Given the description of an element on the screen output the (x, y) to click on. 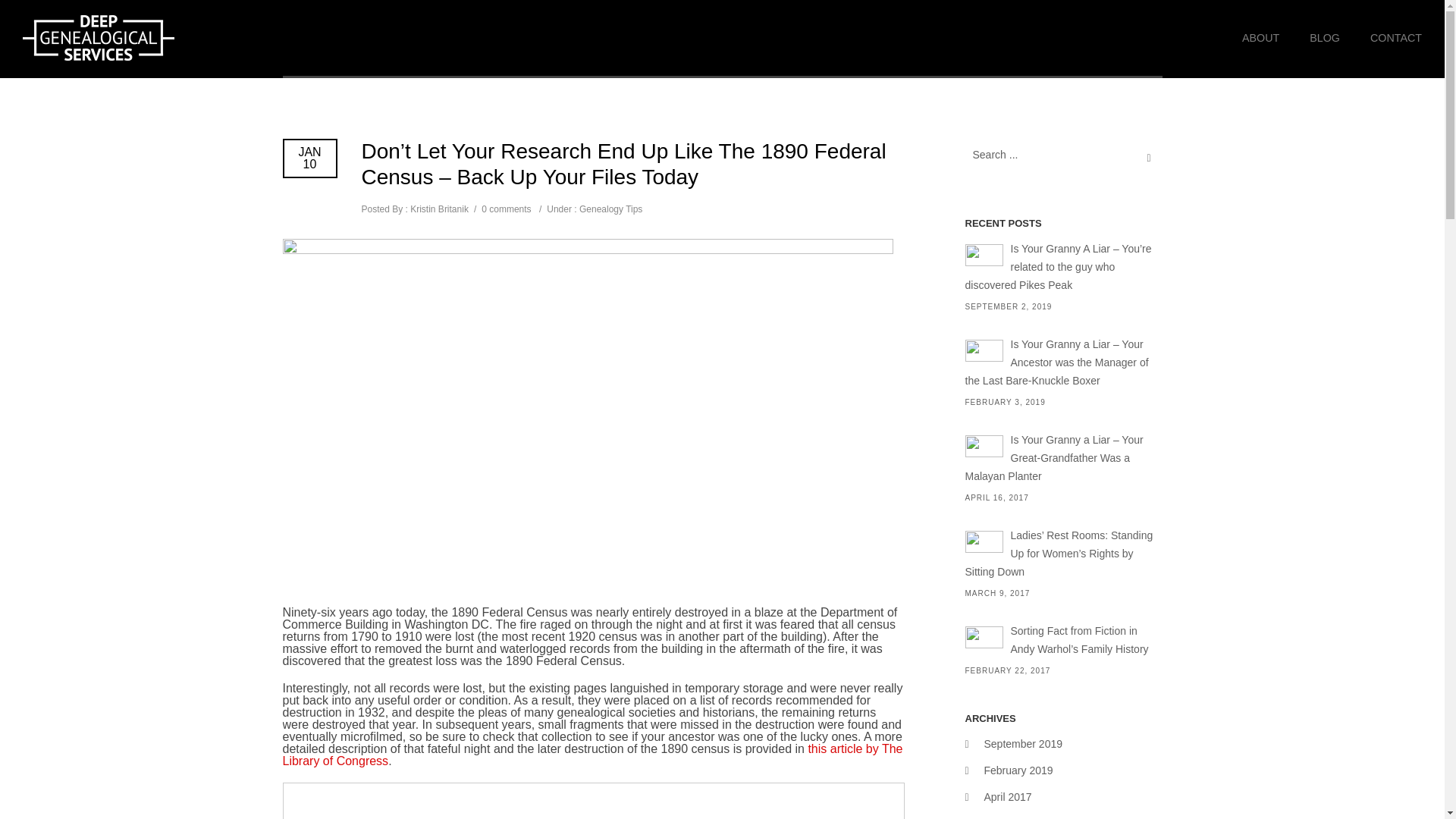
View all posts in Genealogy Tips (609, 208)
BLOG (1324, 37)
ABOUT (1260, 37)
Genealogy Tips (609, 208)
this article by The Library of Congress (592, 754)
CONTACT (1388, 37)
0 comments (506, 208)
